Given the description of an element on the screen output the (x, y) to click on. 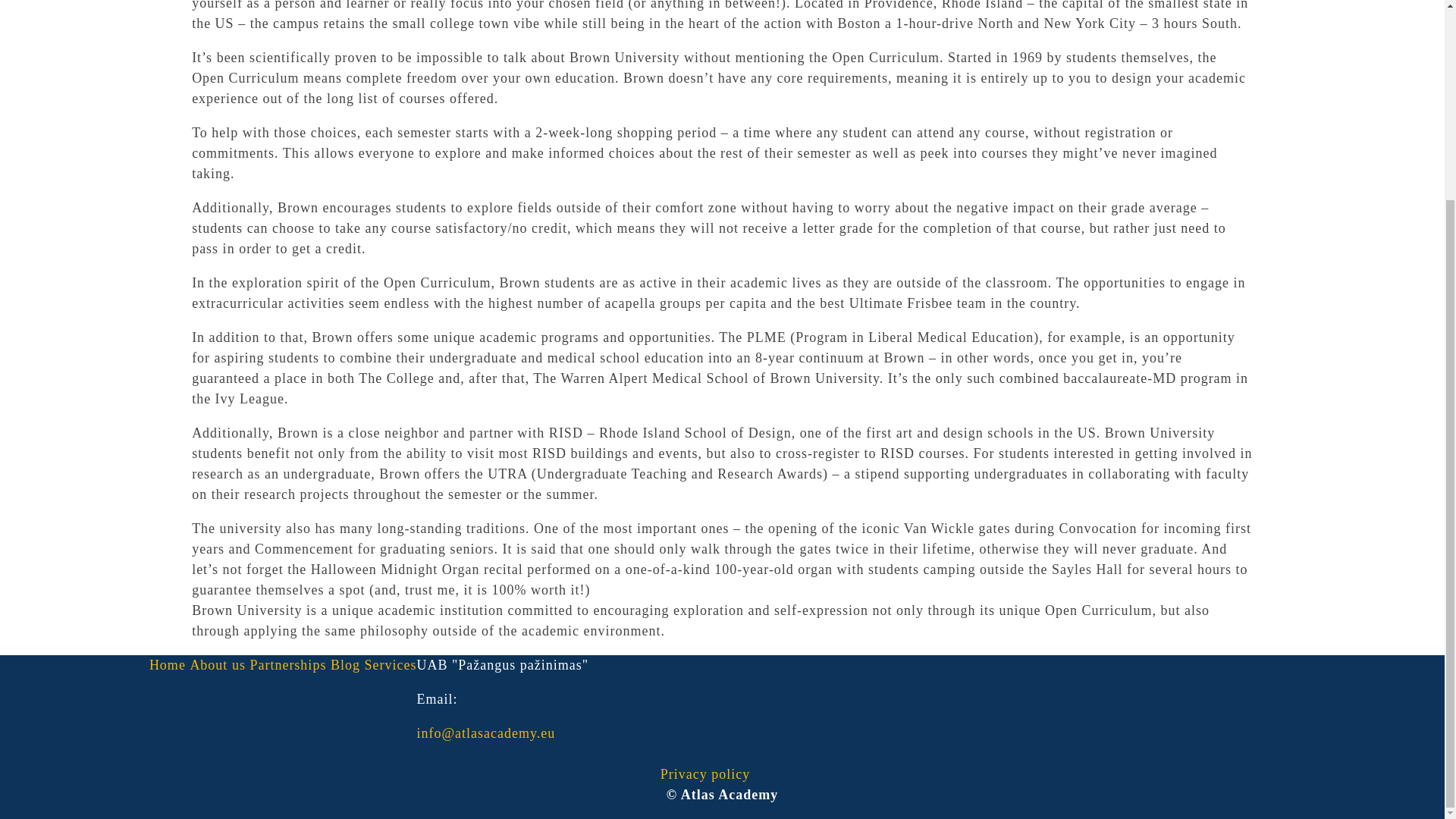
Privacy policy (705, 774)
Services (390, 664)
Home (167, 664)
Partnerships (287, 664)
About us (217, 664)
Blog (344, 664)
